Given the description of an element on the screen output the (x, y) to click on. 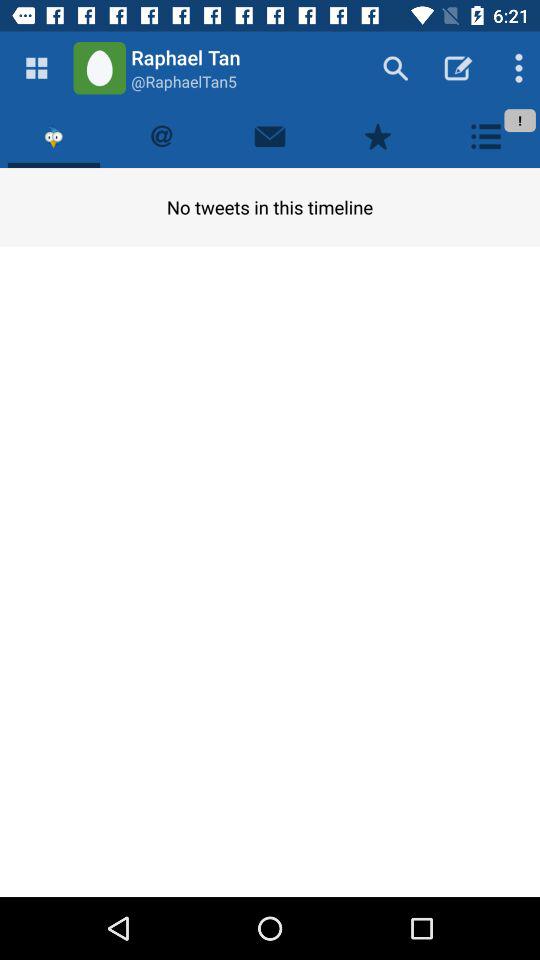
select the icon above the no tweets in item (162, 136)
